Given the description of an element on the screen output the (x, y) to click on. 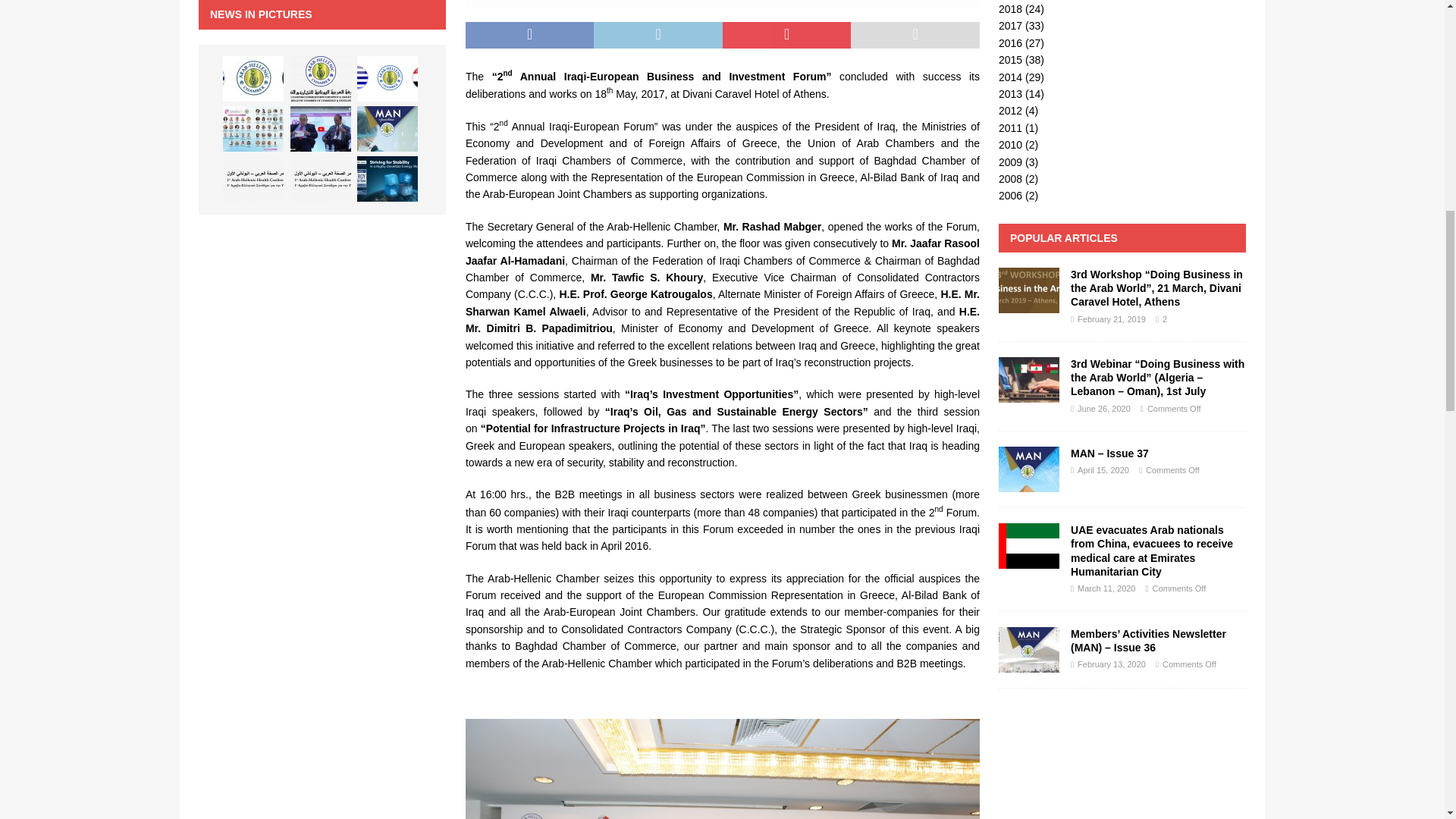
FEATURED2NDFORUM (722, 3)
